Given the description of an element on the screen output the (x, y) to click on. 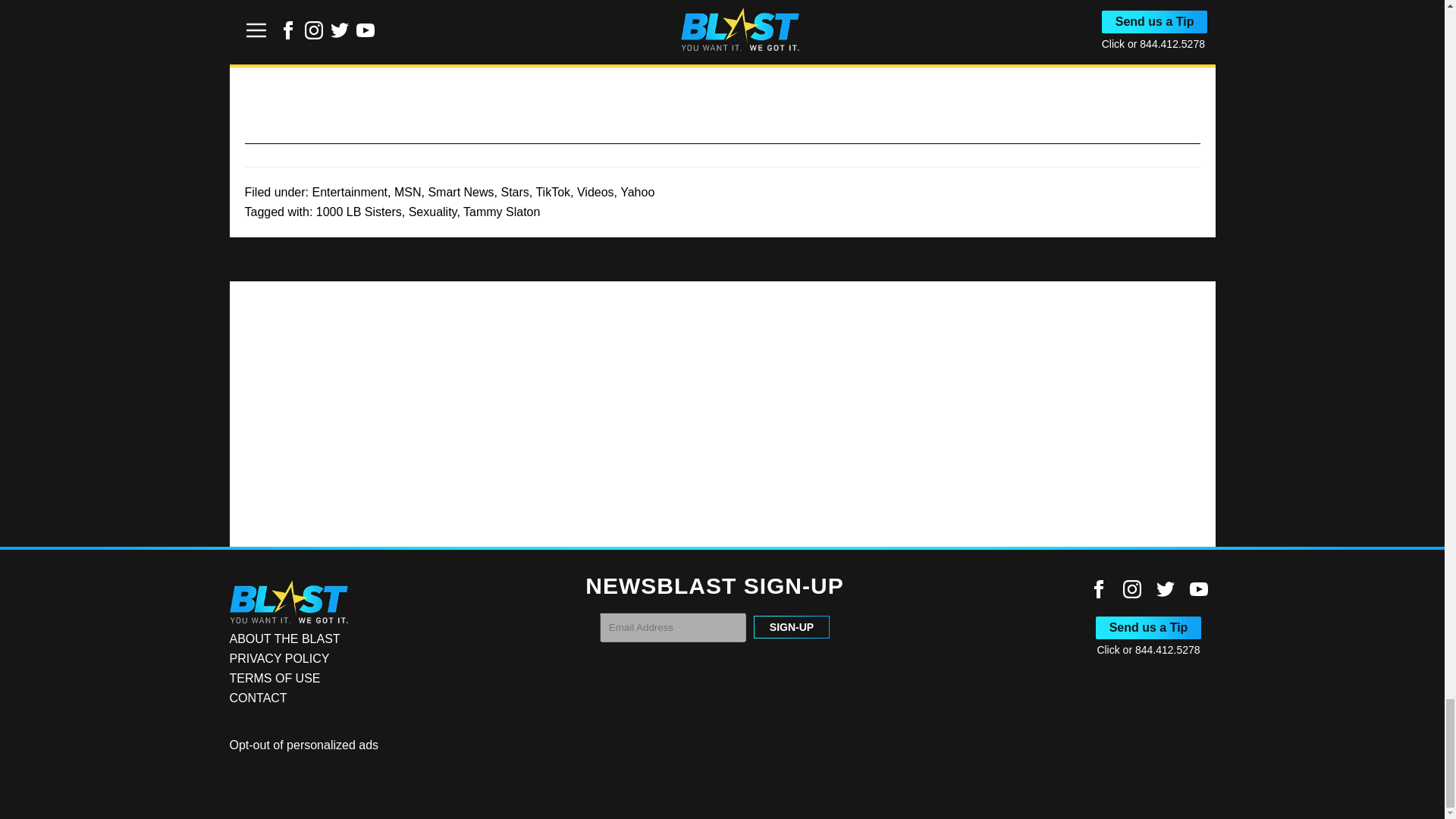
SIGN-UP (791, 626)
Link to Instagram (1131, 588)
Videos (595, 192)
Entertainment (349, 192)
Tammy Slaton (501, 211)
Link to Twitter (1164, 588)
Link to Youtube (1198, 588)
Smart News (460, 192)
TikTok (552, 192)
1000 LB Sisters (358, 211)
